Given the description of an element on the screen output the (x, y) to click on. 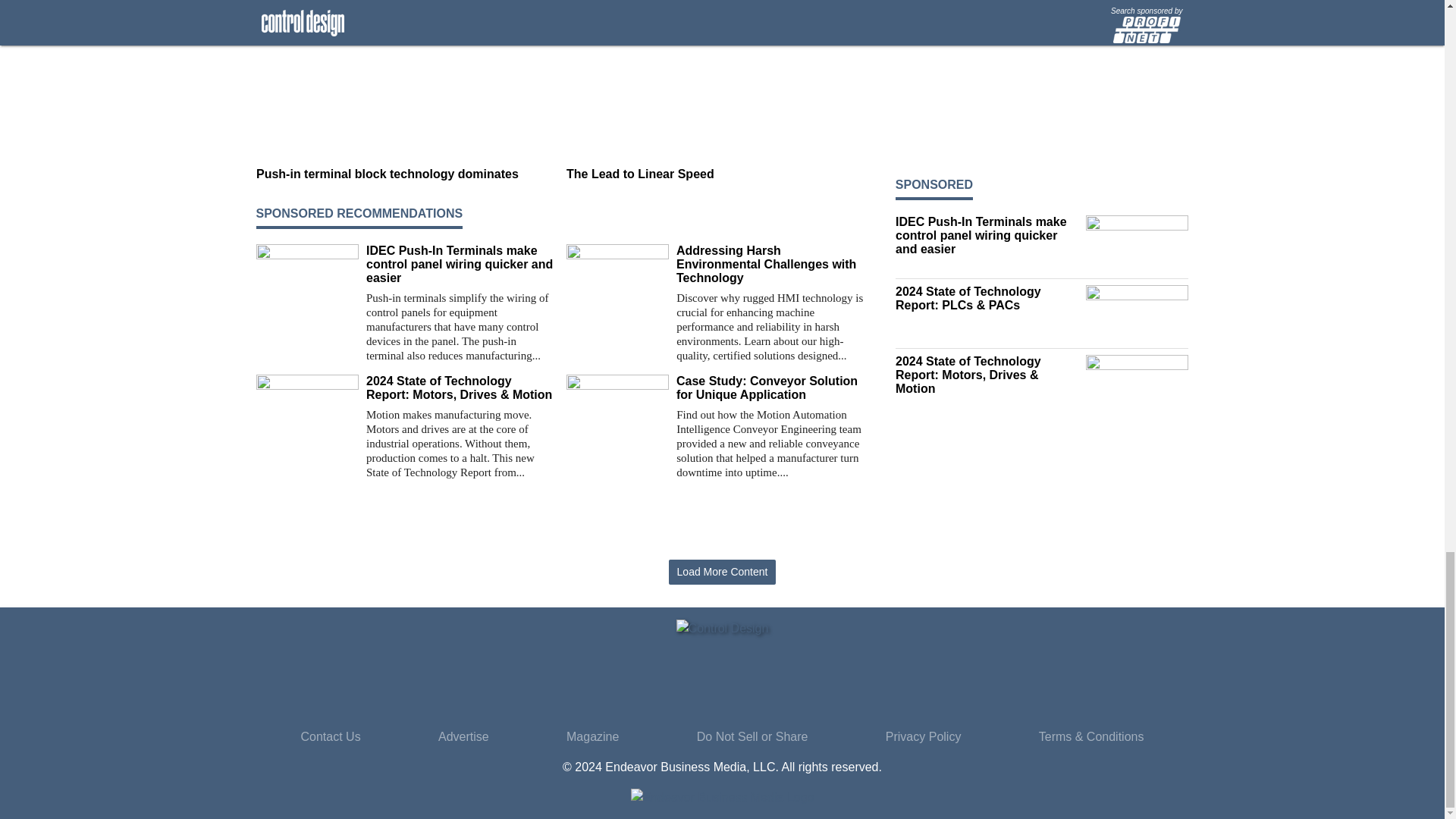
The Lead to Linear Speed (715, 173)
Case Study: Conveyor Solution for Unique Application (770, 388)
Push-in terminal block technology dominates (405, 173)
Addressing Harsh Environmental Challenges with Technology (770, 264)
